Given the description of an element on the screen output the (x, y) to click on. 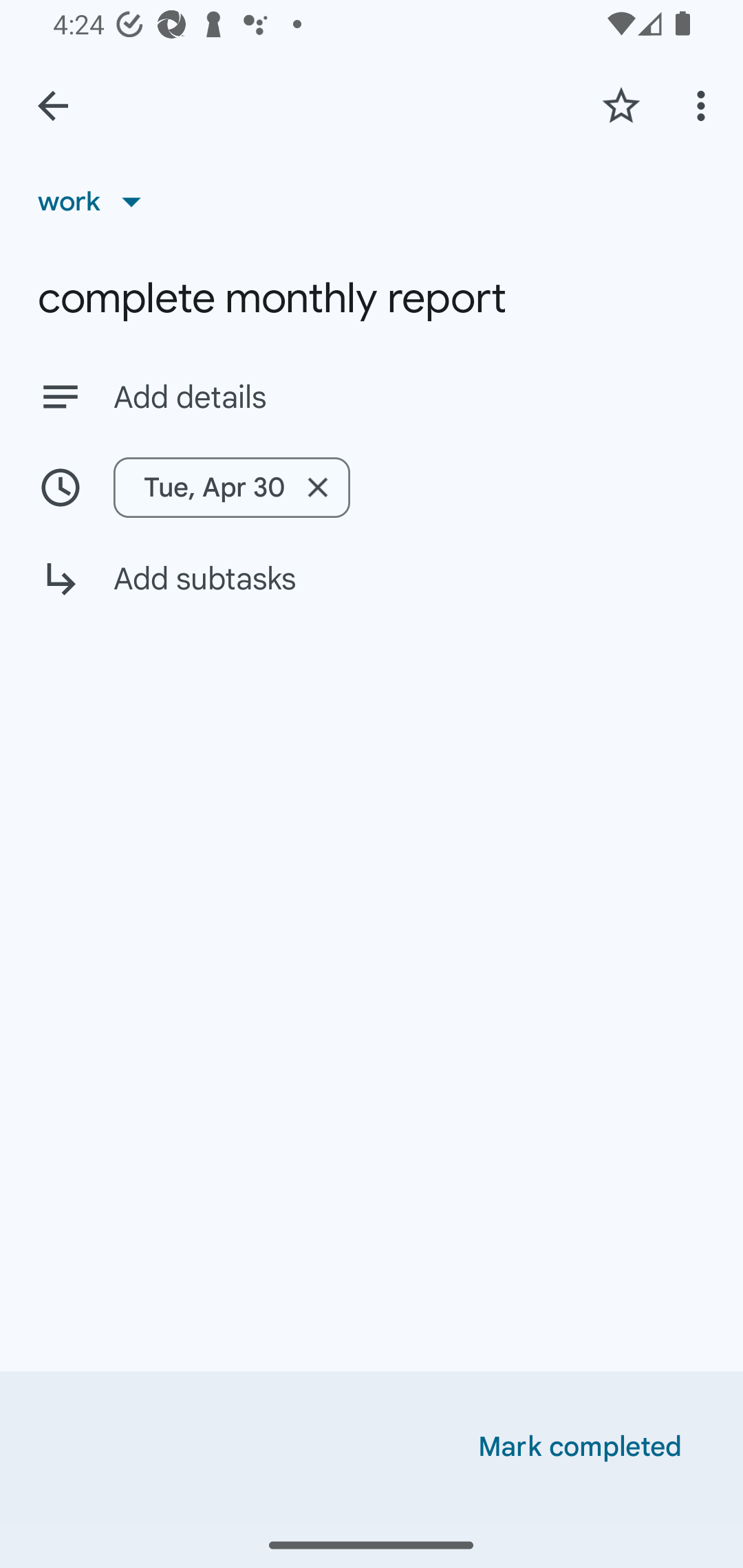
Back (53, 105)
Add star (620, 105)
More options (704, 105)
work List, work selected, 1 of 12 (95, 201)
complete monthly report (371, 298)
Add details (371, 396)
Add details (409, 397)
Tue, Apr 30 Remove date/time (371, 487)
Tue, Apr 30 Remove date/time (231, 487)
Add subtasks (371, 593)
Mark completed (580, 1446)
